Given the description of an element on the screen output the (x, y) to click on. 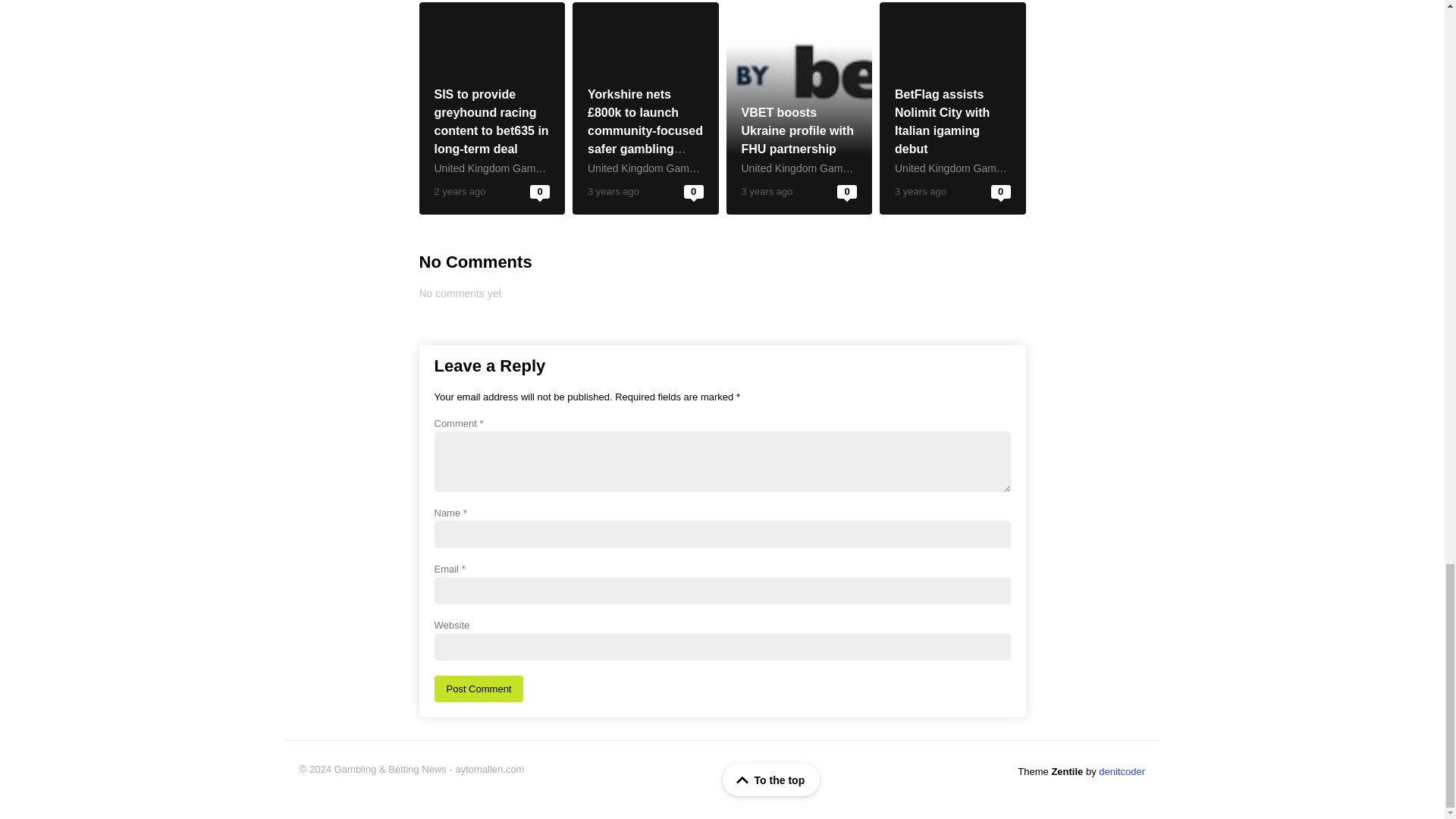
VBET boosts Ukraine profile with FHU partnership (797, 130)
United Kingdom Gambling Commission (525, 168)
Post Comment (477, 688)
Post Comment (477, 688)
United Kingdom Gambling Commission (833, 168)
To the top (771, 779)
denitcoder (1121, 771)
To the top (771, 779)
United Kingdom Gambling Commission (680, 168)
BetFlag assists Nolimit City with Italian igaming debut (942, 121)
United Kingdom Gambling Commission (987, 168)
